Given the description of an element on the screen output the (x, y) to click on. 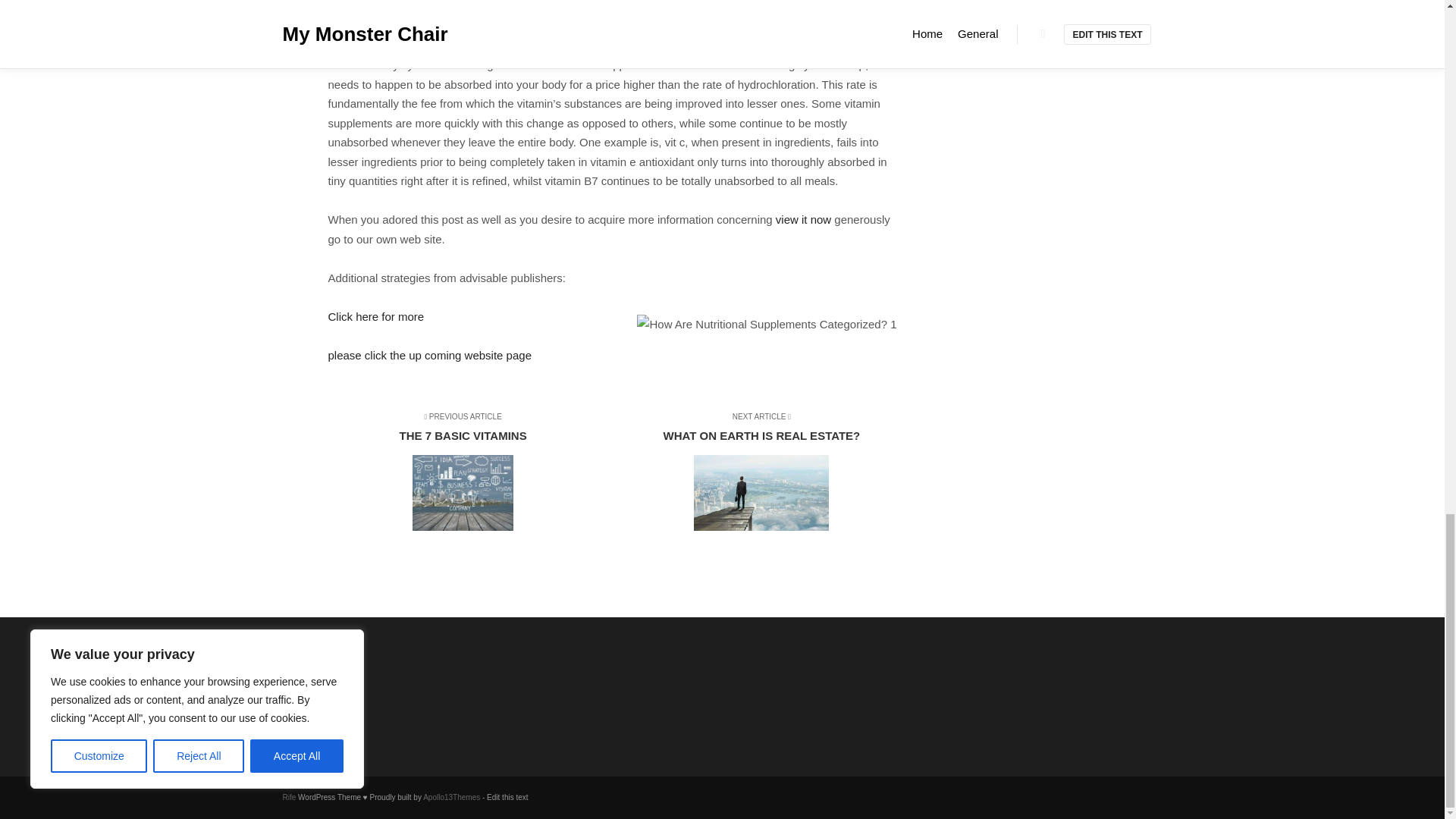
About (360, 683)
Contact (360, 701)
Click here for more (754, 472)
please click the up coming website page (375, 316)
view it now (429, 354)
